Given the description of an element on the screen output the (x, y) to click on. 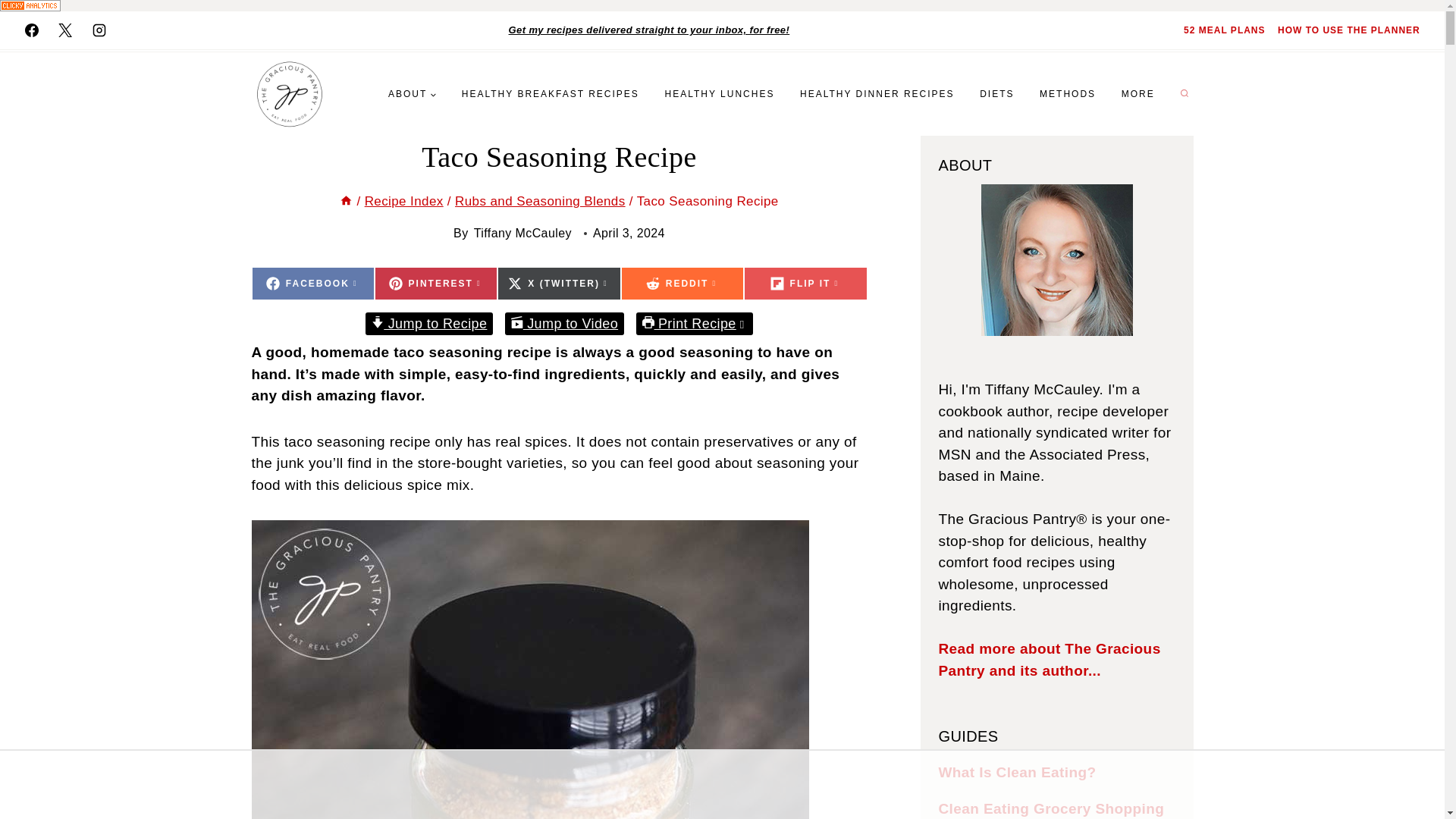
 External link. Opens in a new tab. (682, 283)
 External link. Opens in a new tab. (31, 30)
MORE (435, 283)
ABOUT (1137, 93)
 External link. Opens in a new tab. (411, 93)
Home (312, 283)
DIETS (345, 201)
52 MEAL PLANS (996, 93)
Recipe Index (1224, 30)
